Given the description of an element on the screen output the (x, y) to click on. 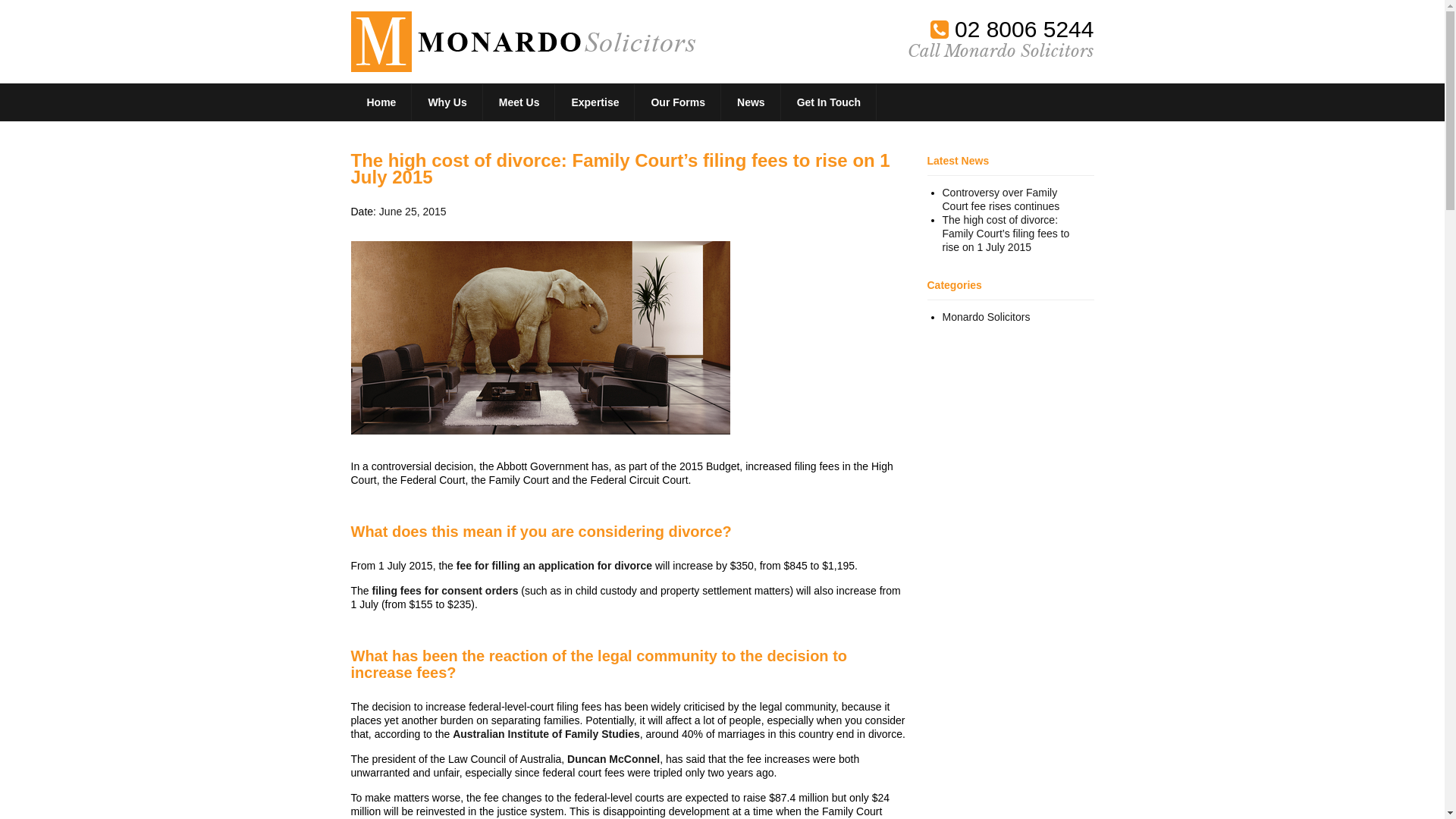
Home Element type: text (381, 102)
News Element type: text (751, 102)
Our Forms Element type: text (678, 102)
Expertise Element type: text (594, 102)
Meet Us Element type: text (519, 102)
Why Us Element type: text (447, 102)
Monardo Solicitors Element type: text (985, 316)
fee for filling an application for divorce Element type: text (554, 565)
Controversy over Family Court fee rises continues Element type: text (1000, 199)
filing fees for consent orders Element type: text (445, 590)
Australian Institute of Family Studies Element type: text (546, 734)
June 25, 2015 Element type: text (412, 211)
Duncan McConnel Element type: text (613, 759)
Monardo Solicitors Element type: hover (522, 41)
Get In Touch Element type: text (829, 102)
